Given the description of an element on the screen output the (x, y) to click on. 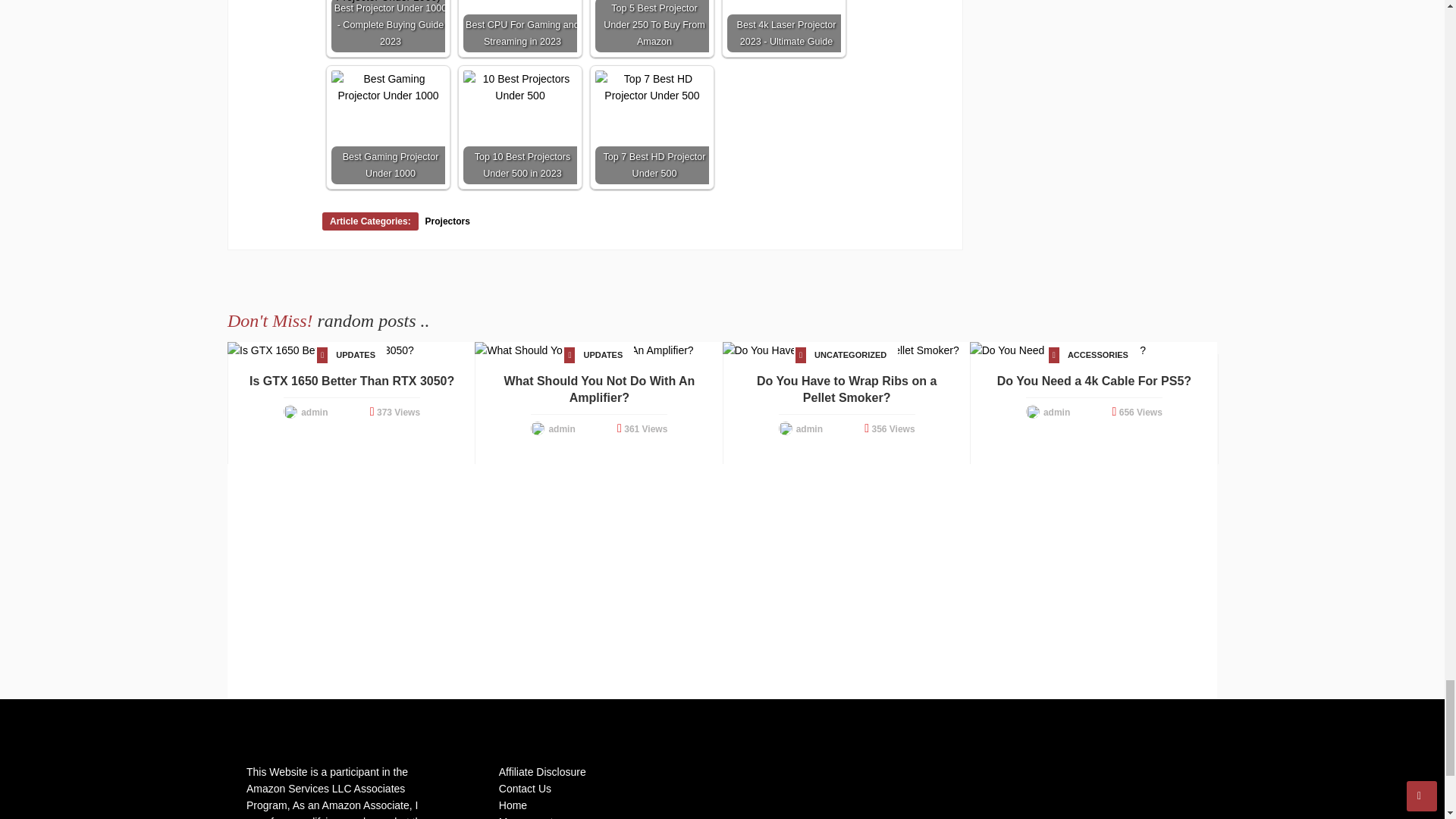
Best Projector Under 1000 - Complete Buying Guide 2023 (388, 2)
Posts by admin (561, 429)
Posts by admin (1056, 412)
Best Gaming Projector Under 1000 (388, 87)
Posts by admin (314, 412)
Top 10 Best Projectors Under 500 in 2023 (519, 87)
Top 7 Best HD Projector Under 500 (652, 87)
Posts by admin (809, 429)
